Given the description of an element on the screen output the (x, y) to click on. 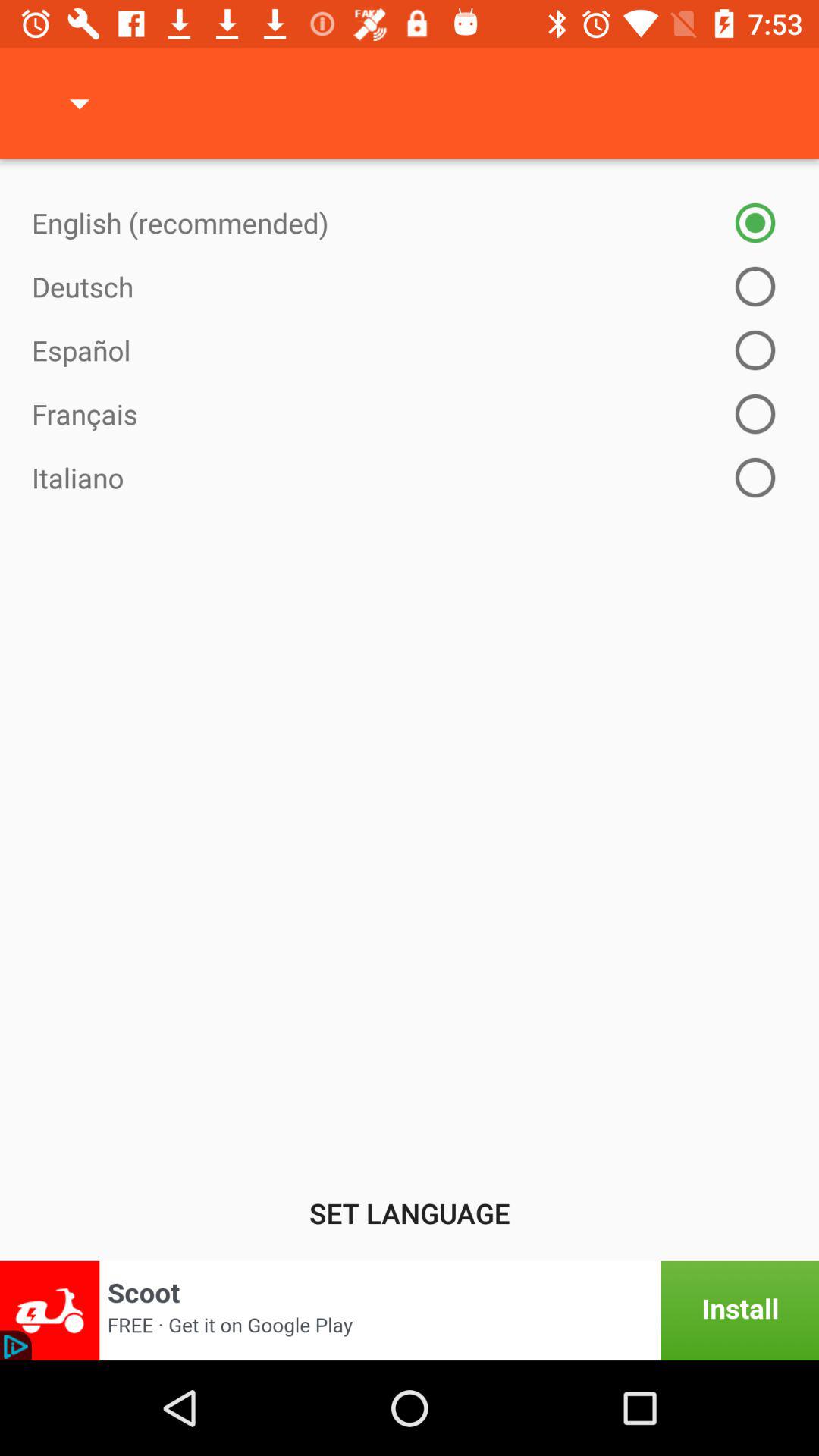
banner of advertiser (409, 1310)
